Given the description of an element on the screen output the (x, y) to click on. 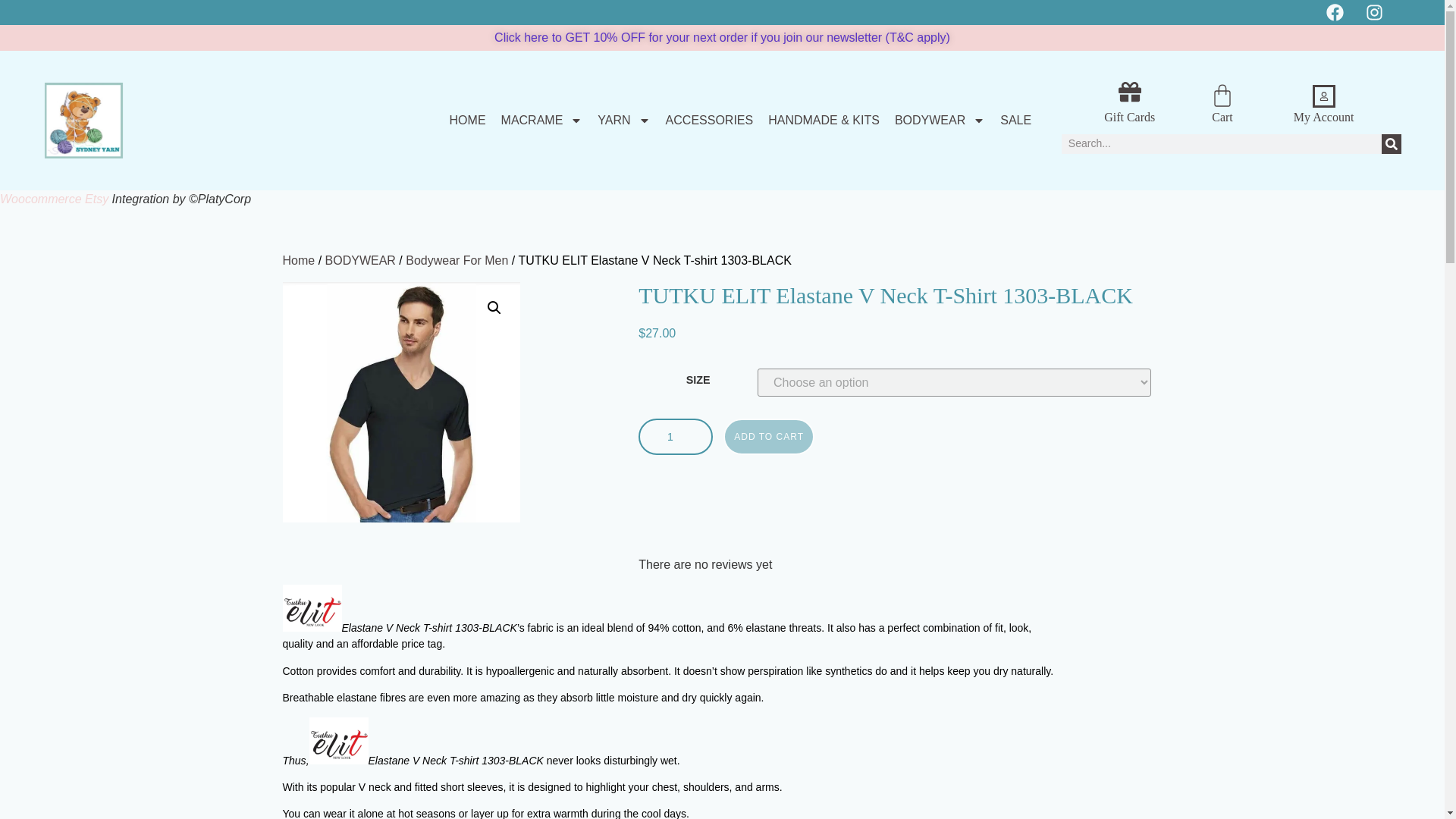
1 (676, 436)
PayPal (900, 508)
HOME (467, 120)
PayPal Message 1 (900, 463)
MACRAME (541, 120)
YARN (622, 120)
